Given the description of an element on the screen output the (x, y) to click on. 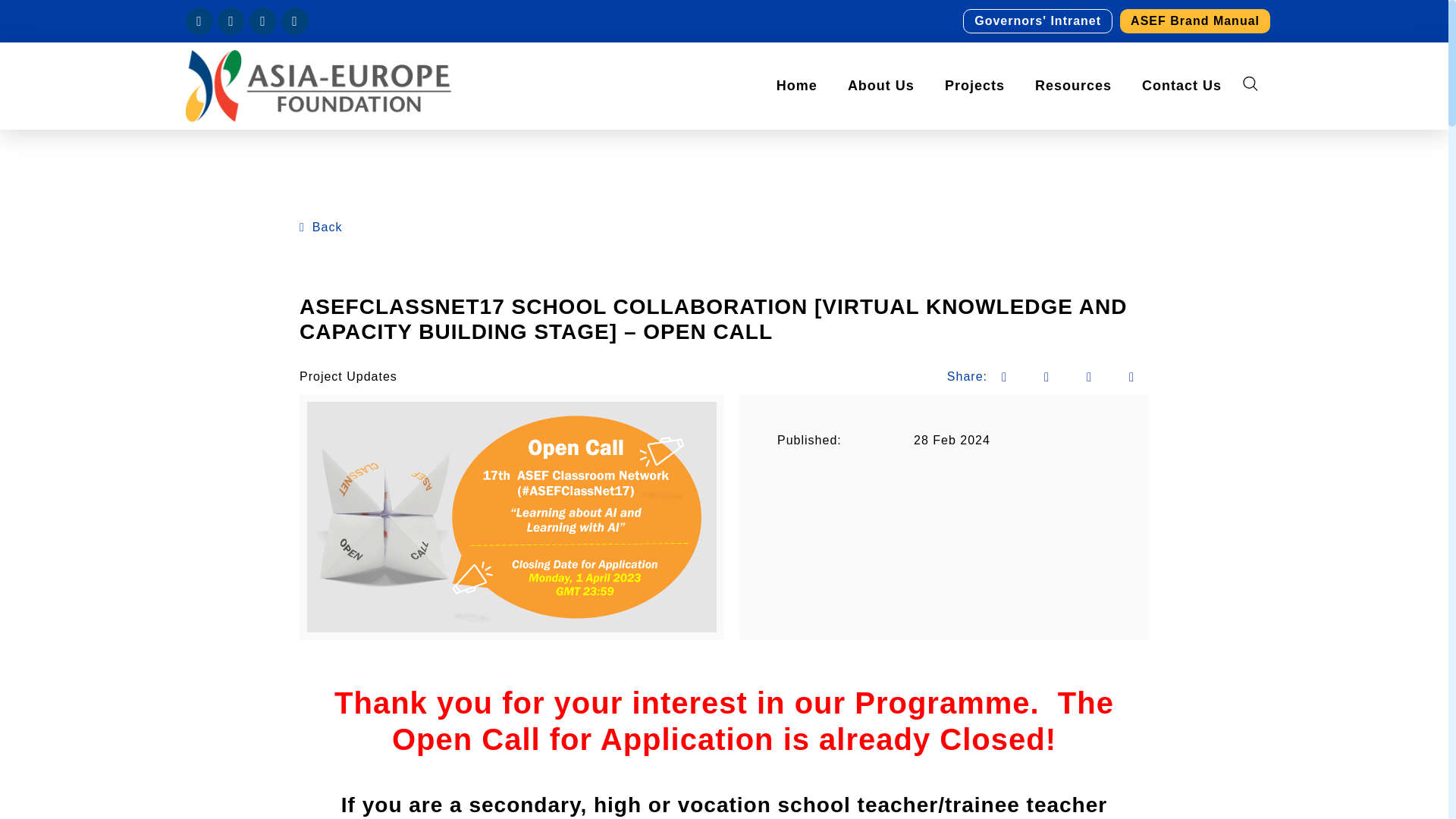
Resources (1073, 85)
Governors' Intranet (1037, 21)
Projects (975, 85)
About Us (881, 85)
Home (796, 85)
ASEF Brand Manual (1195, 21)
Contact Us (1181, 85)
